Given the description of an element on the screen output the (x, y) to click on. 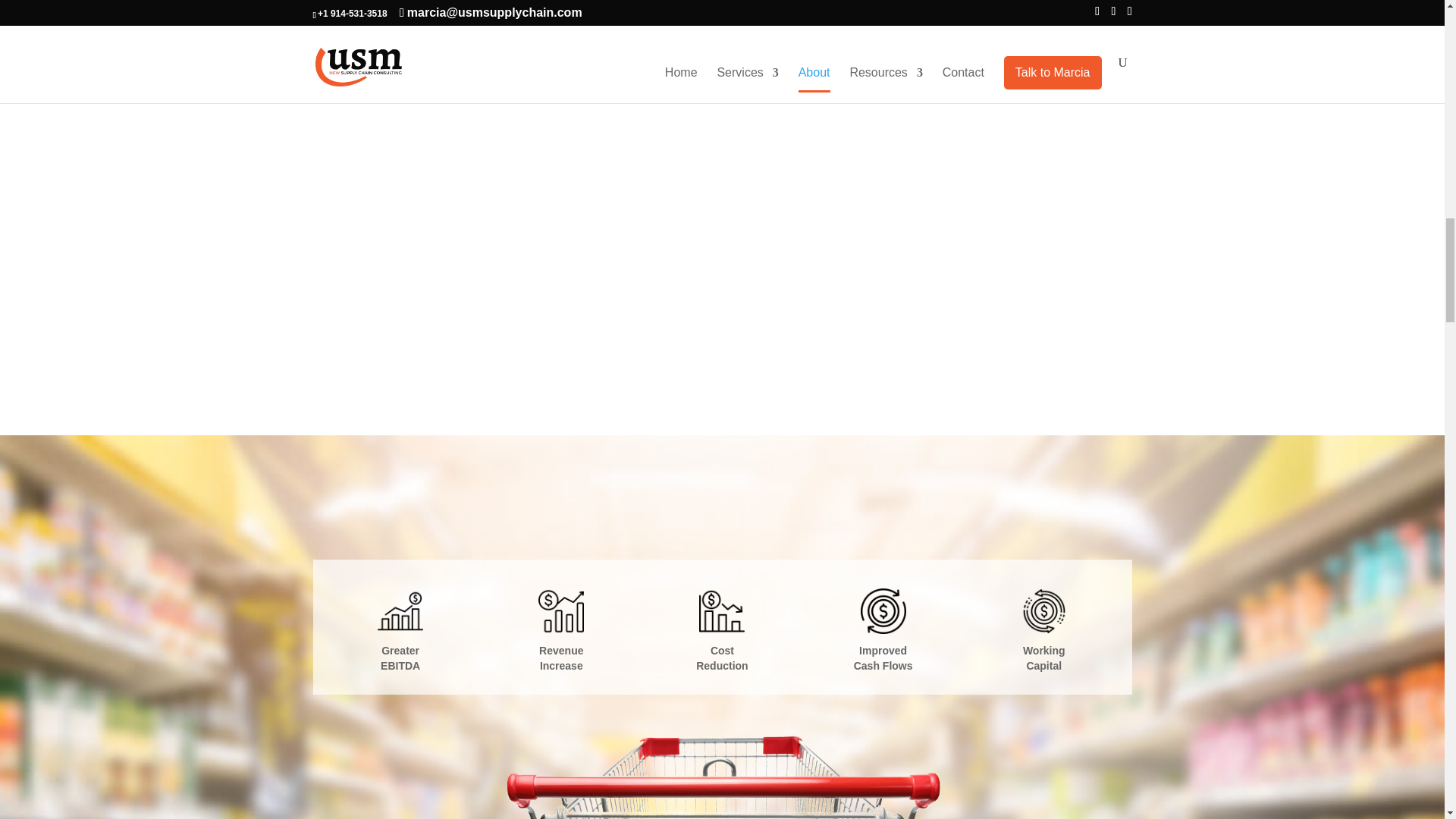
cost reduce (721, 610)
cart-image-for-overlay (722, 763)
ebitda-icon (400, 610)
revenue (560, 610)
working capi money (1044, 610)
return-on-investment (882, 610)
